Given the description of an element on the screen output the (x, y) to click on. 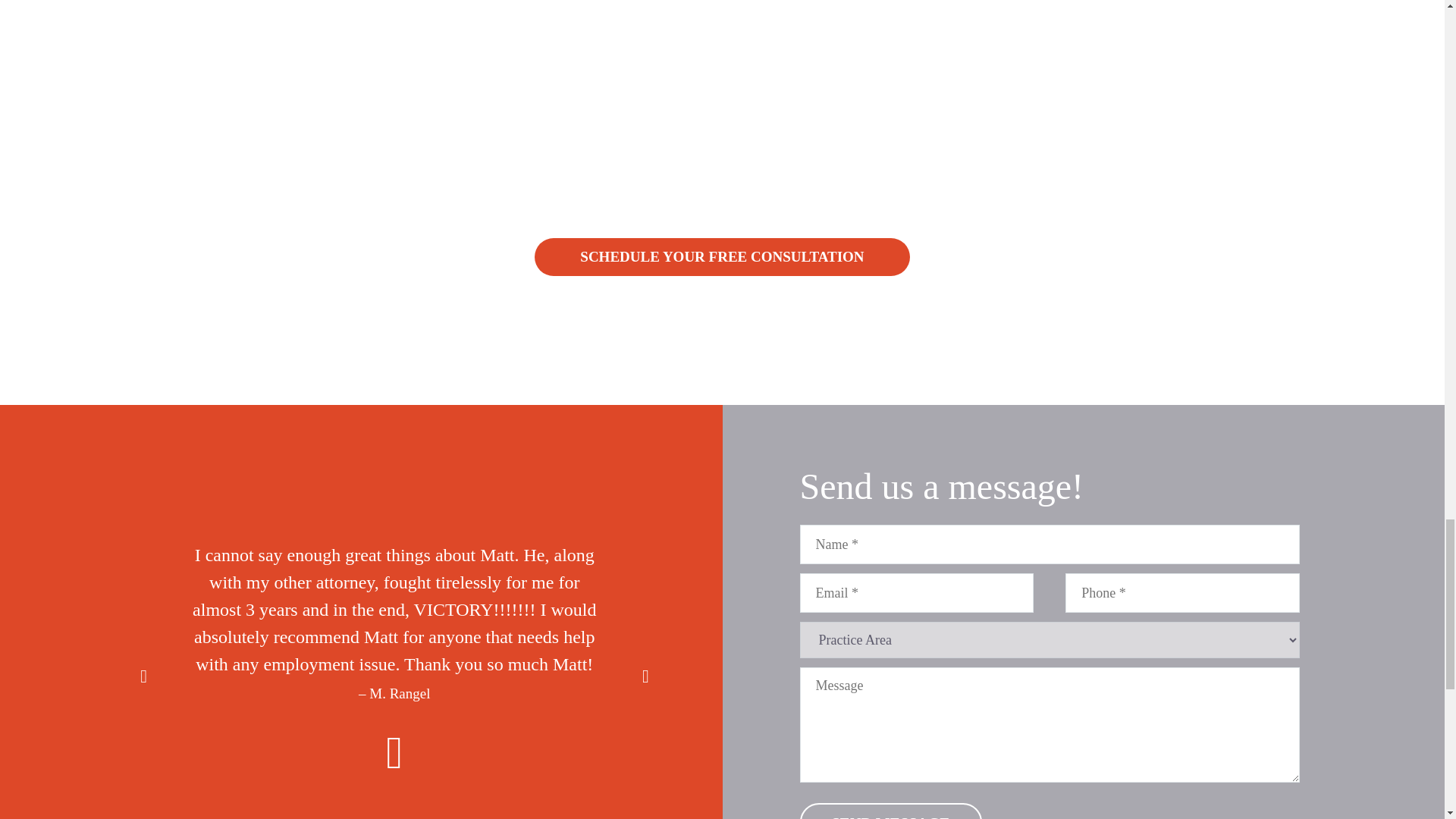
Send Message (890, 811)
